Given the description of an element on the screen output the (x, y) to click on. 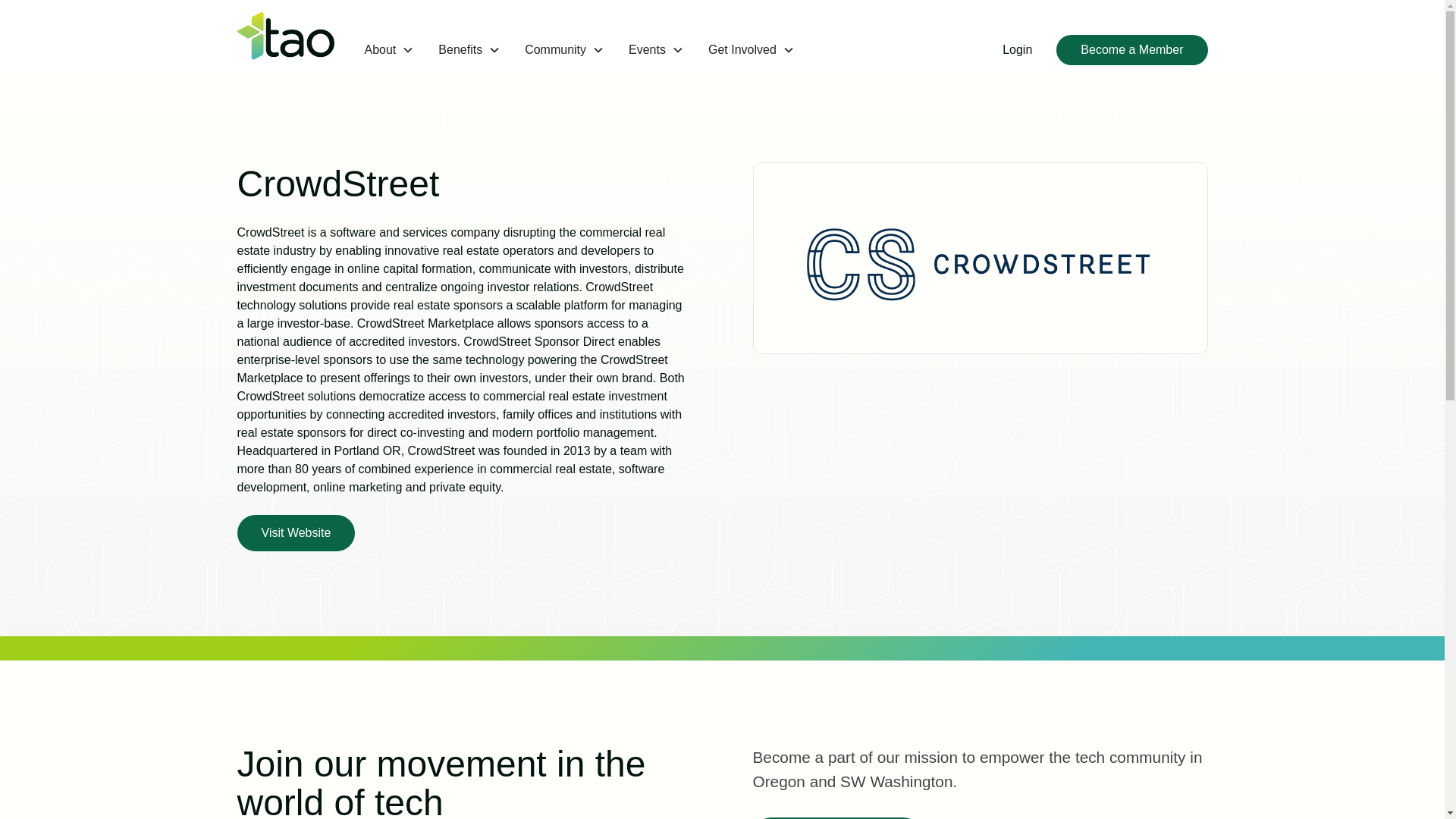
Login (1016, 50)
Visit Website (295, 533)
Become a Member (1132, 50)
